Given the description of an element on the screen output the (x, y) to click on. 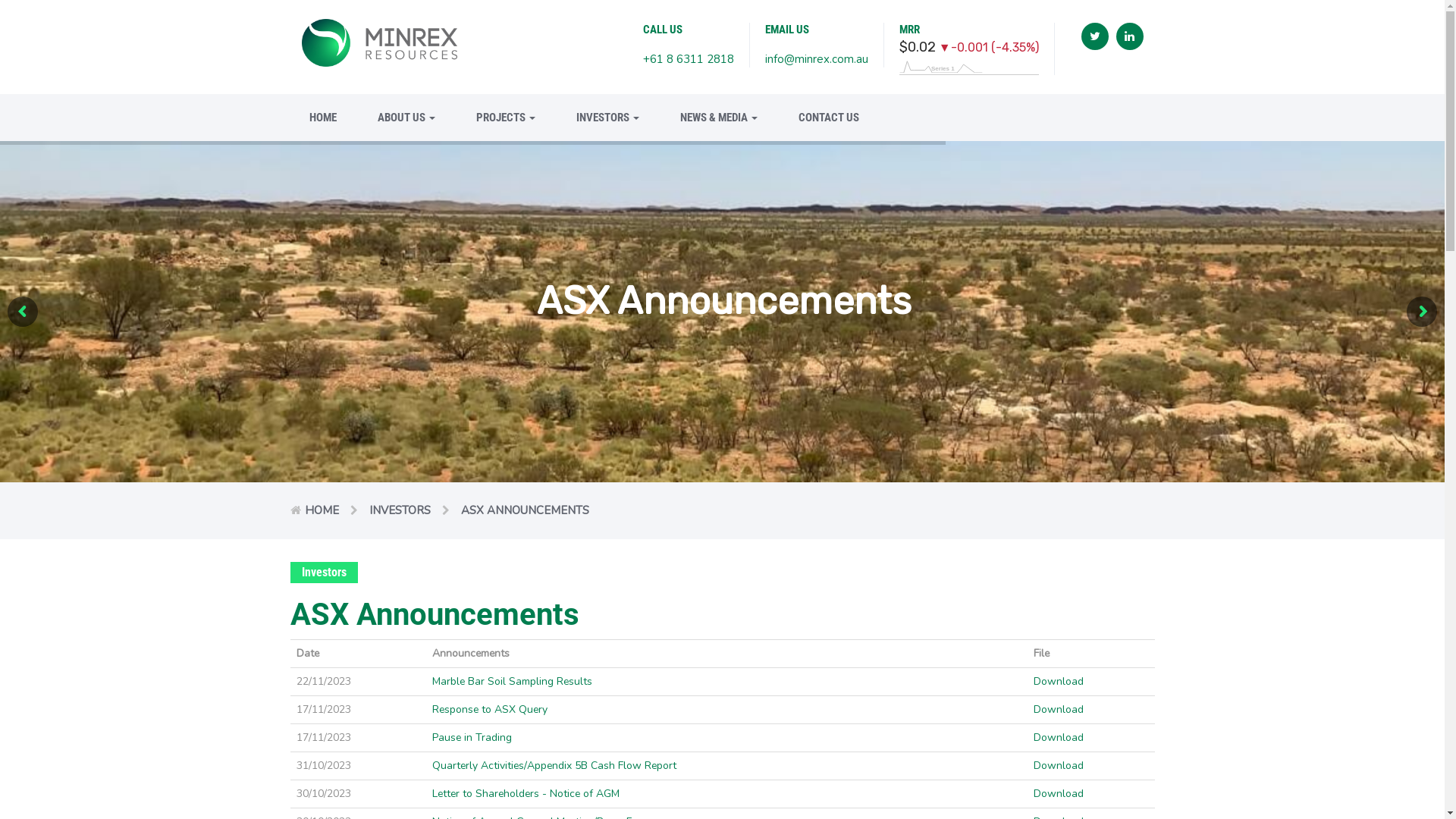
Download Element type: text (1058, 681)
CONTACT US Element type: text (819, 117)
Marble Bar Soil Sampling Results Element type: text (512, 681)
Pause in Trading Element type: text (471, 737)
ABOUT US Element type: text (405, 117)
Download Element type: text (1058, 793)
info@minrex.com.au Element type: text (816, 58)
PROJECTS Element type: text (504, 117)
Download Element type: text (1058, 709)
Letter to Shareholders - Notice of AGM Element type: text (525, 793)
Quarterly Activities/Appendix 5B Cash Flow Report Element type: text (554, 765)
+61 8 6311 2818 Element type: text (688, 58)
HOME Element type: text (321, 509)
HOME Element type: text (321, 117)
Response to ASX Query Element type: text (489, 709)
NEWS & MEDIA Element type: text (718, 117)
INVESTORS Element type: text (606, 117)
INVESTORS Element type: text (398, 509)
Download Element type: text (1058, 737)
Download Element type: text (1058, 765)
